Given the description of an element on the screen output the (x, y) to click on. 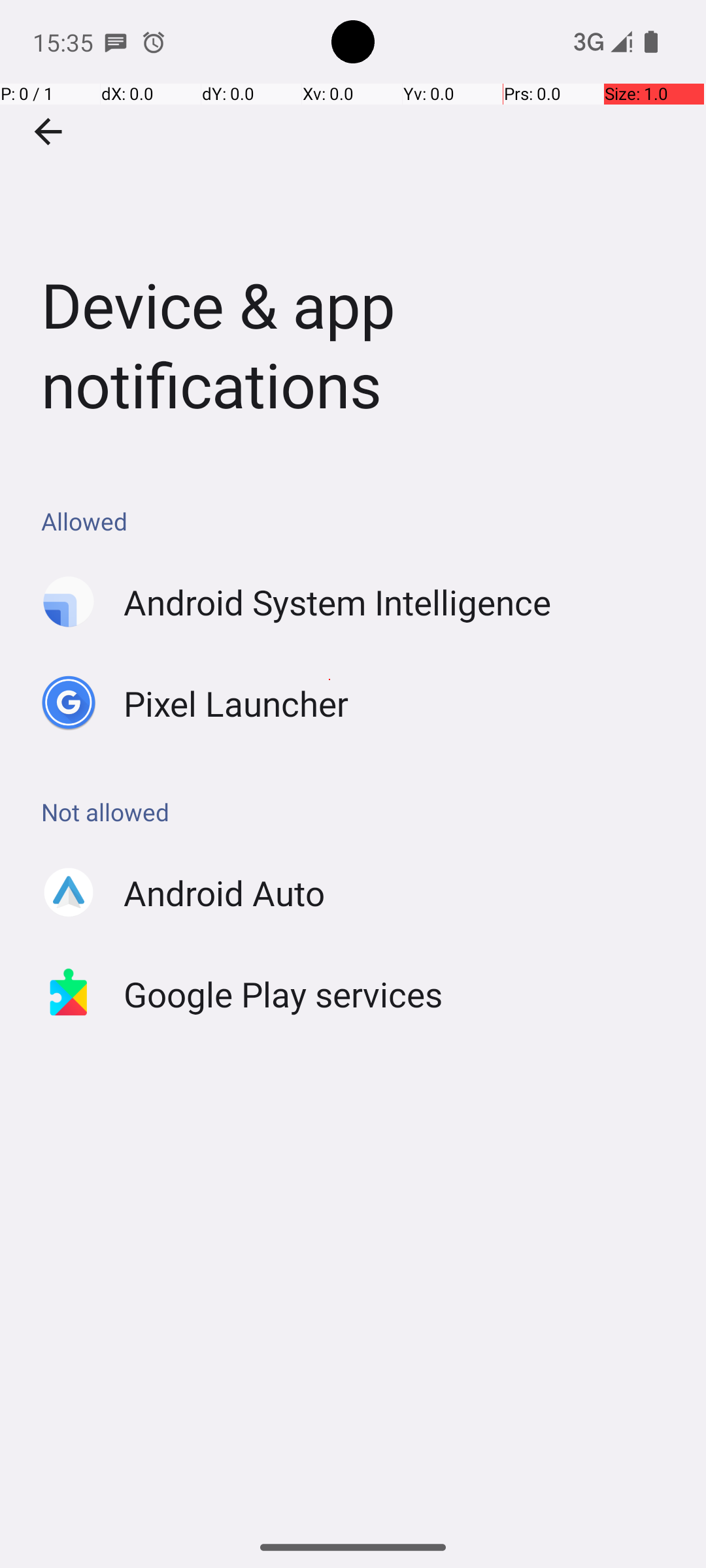
Allowed Element type: android.widget.TextView (359, 520)
Android System Intelligence Element type: android.widget.TextView (337, 601)
Not allowed Element type: android.widget.TextView (359, 811)
